Given the description of an element on the screen output the (x, y) to click on. 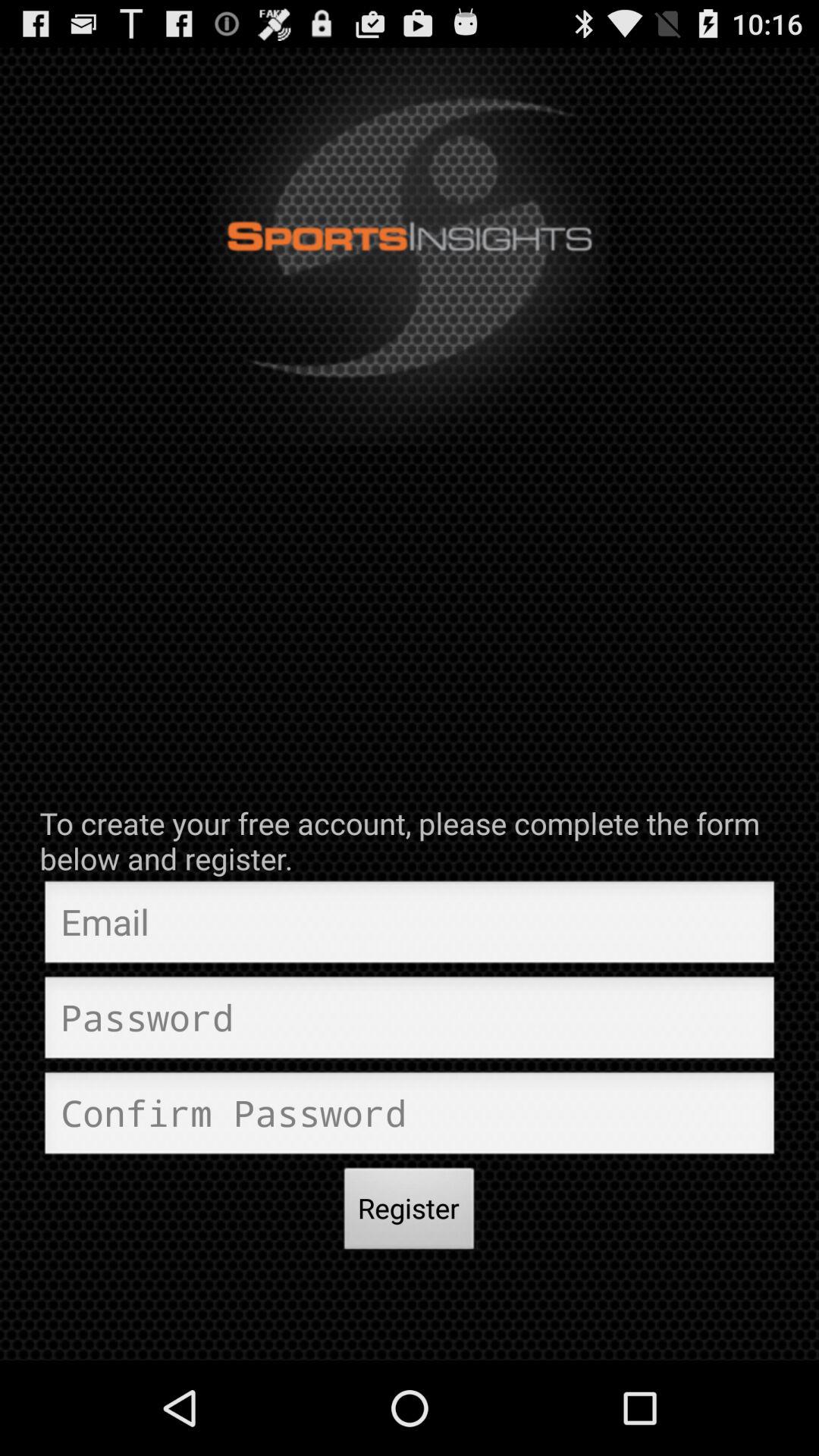
enter text (409, 1117)
